Given the description of an element on the screen output the (x, y) to click on. 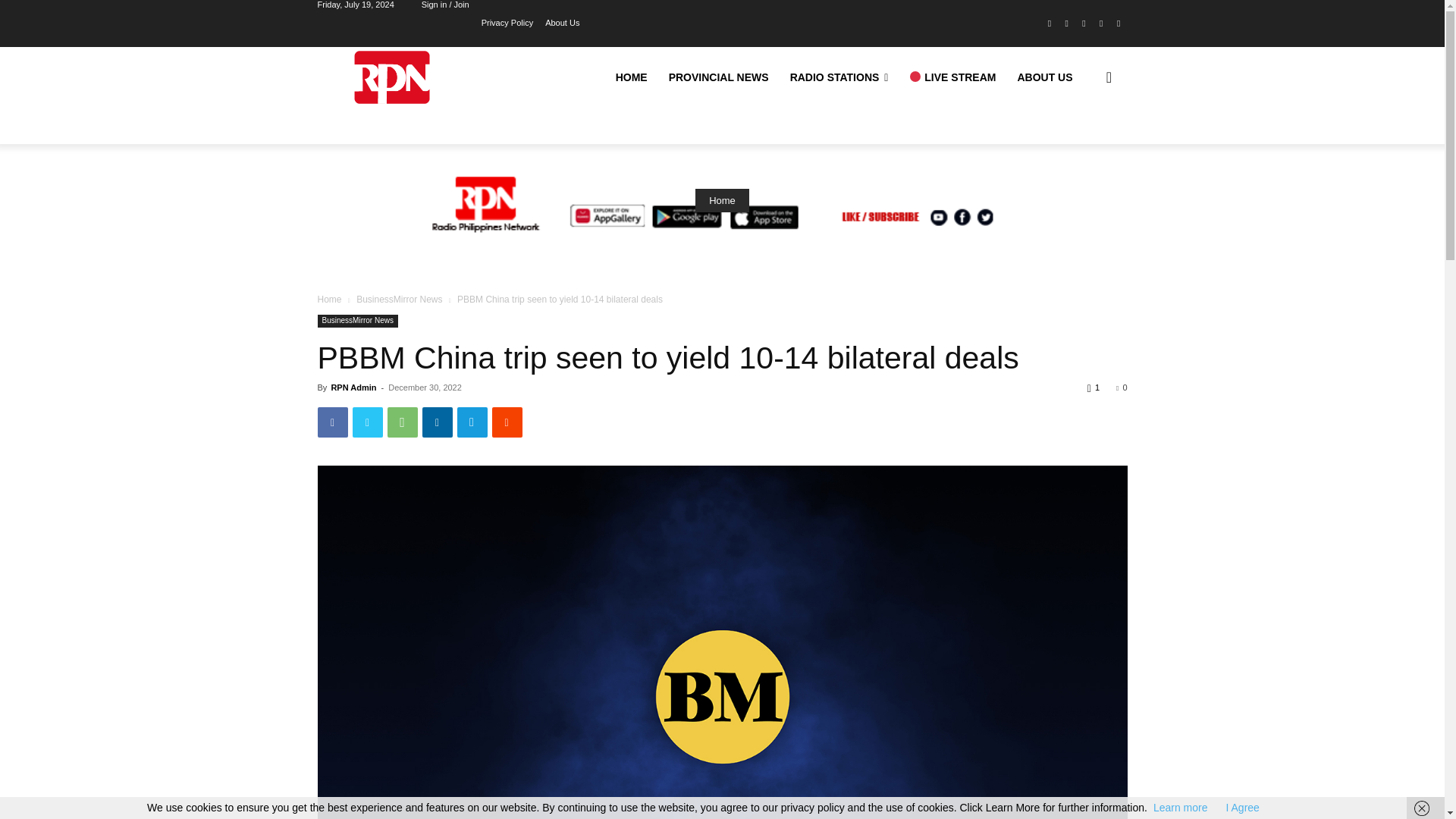
Youtube (1117, 23)
PROVINCIAL NEWS (718, 76)
RADIO STATIONS (838, 76)
Instagram (1066, 23)
Privacy Policy (506, 22)
TikTok (1084, 23)
Facebook (1049, 23)
Twitter (1101, 23)
About Us (561, 22)
